Given the description of an element on the screen output the (x, y) to click on. 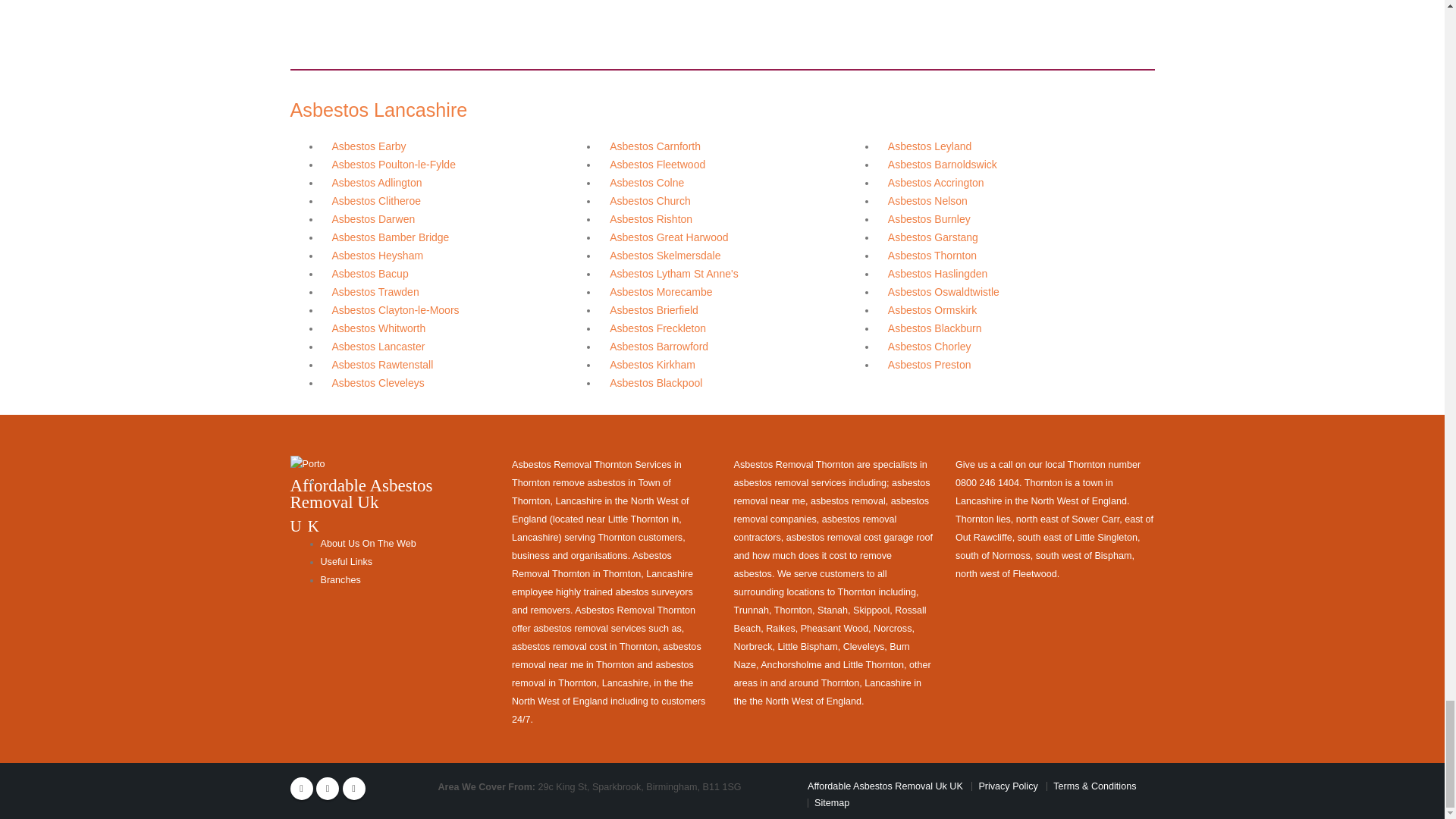
Linkedin (353, 788)
Twitter (327, 788)
Facebook (301, 788)
